Given the description of an element on the screen output the (x, y) to click on. 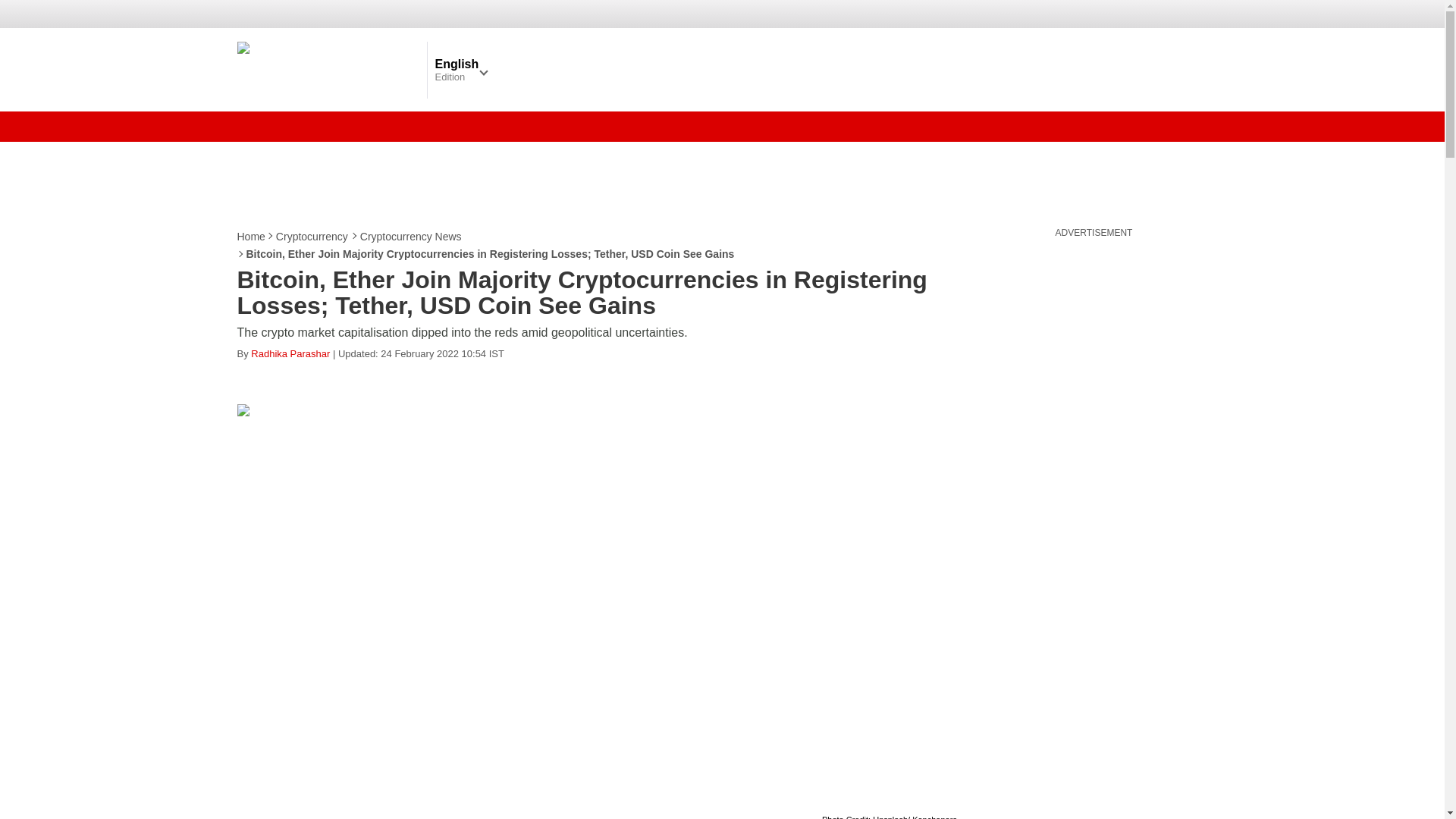
Gadgets 360 (327, 68)
Cryptocurrency News (411, 236)
Cryptocurrency (312, 236)
Home (250, 236)
Home (250, 236)
Cryptocurrency News (411, 236)
Radhika Parashar (290, 353)
Cryptocurrency (312, 236)
